Given the description of an element on the screen output the (x, y) to click on. 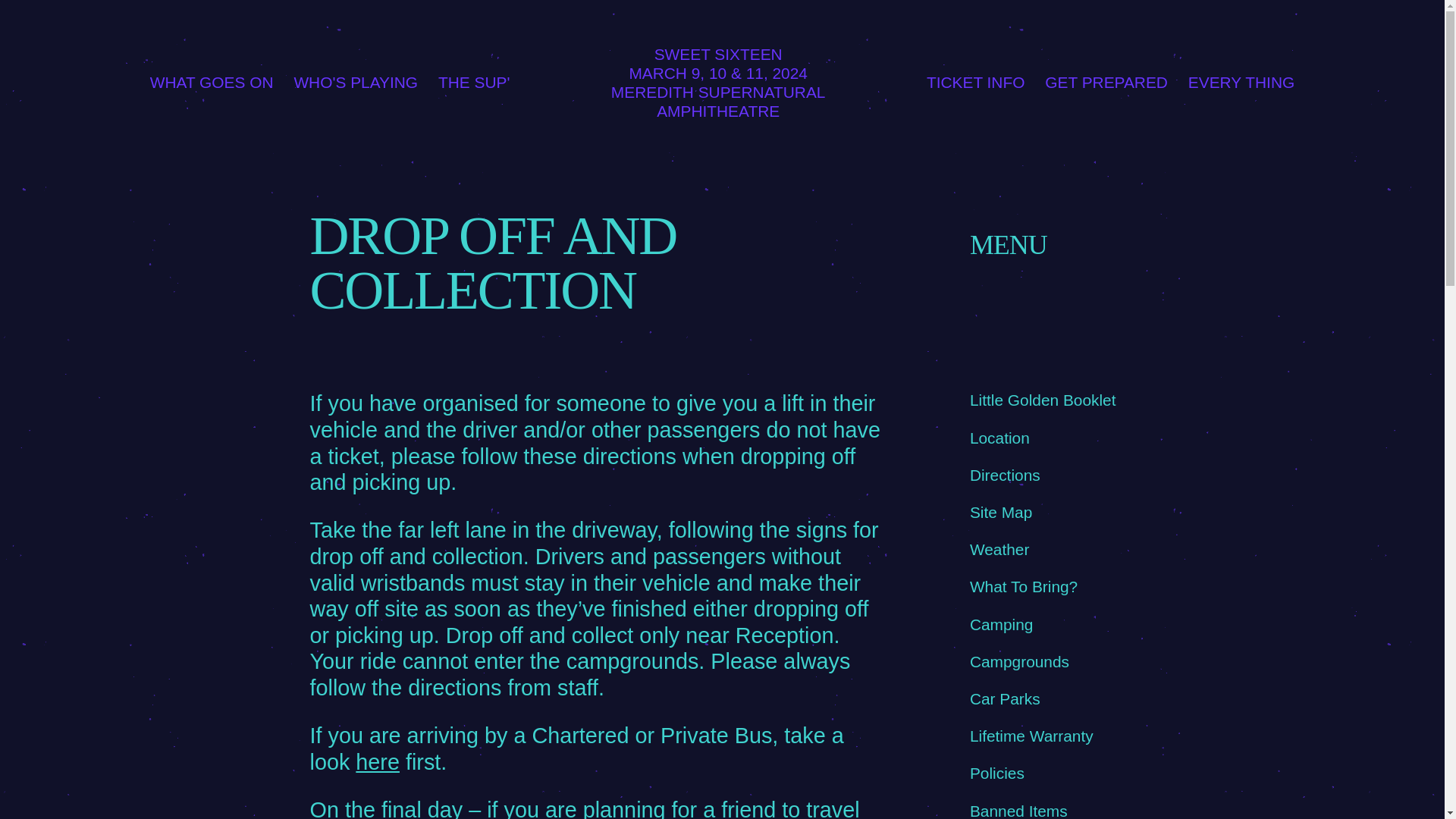
WHAT GOES ON (211, 81)
EVERY THING (1241, 81)
GET PREPARED (1106, 81)
TICKET INFO (975, 81)
THE SUP' (473, 81)
WHO'S PLAYING (355, 81)
